Given the description of an element on the screen output the (x, y) to click on. 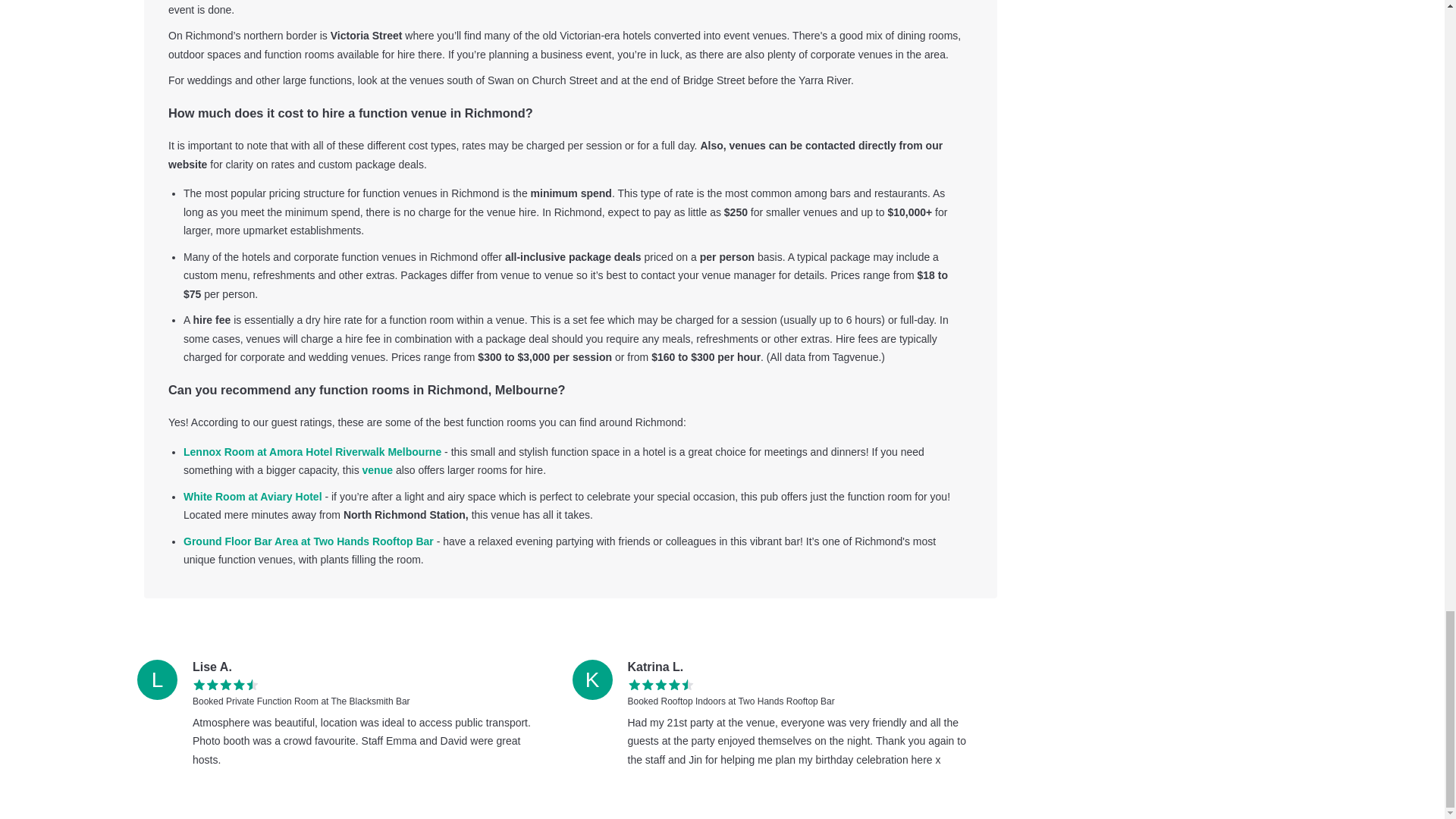
Lennox Room at Amora Hotel Riverwalk Melbourne (312, 451)
White Room at Aviary Hotel (252, 496)
venue (377, 469)
Ground Floor Bar Area at Two Hands Rooftop Bar (308, 541)
